Given the description of an element on the screen output the (x, y) to click on. 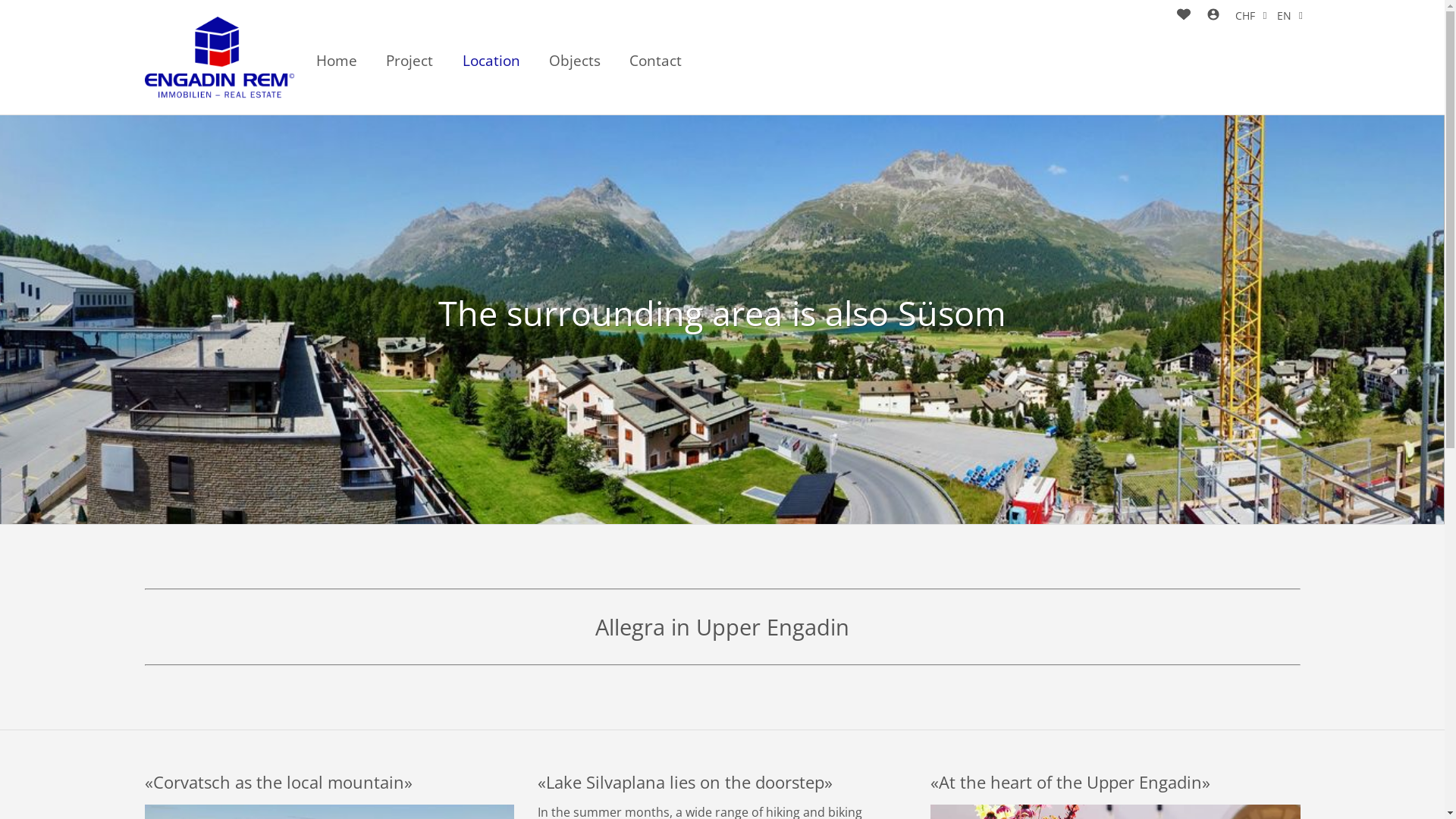
Project Element type: text (409, 60)
Home Element type: text (336, 60)
Contact Element type: text (655, 60)
Location Element type: text (491, 60)
Objects Element type: text (574, 60)
